Given the description of an element on the screen output the (x, y) to click on. 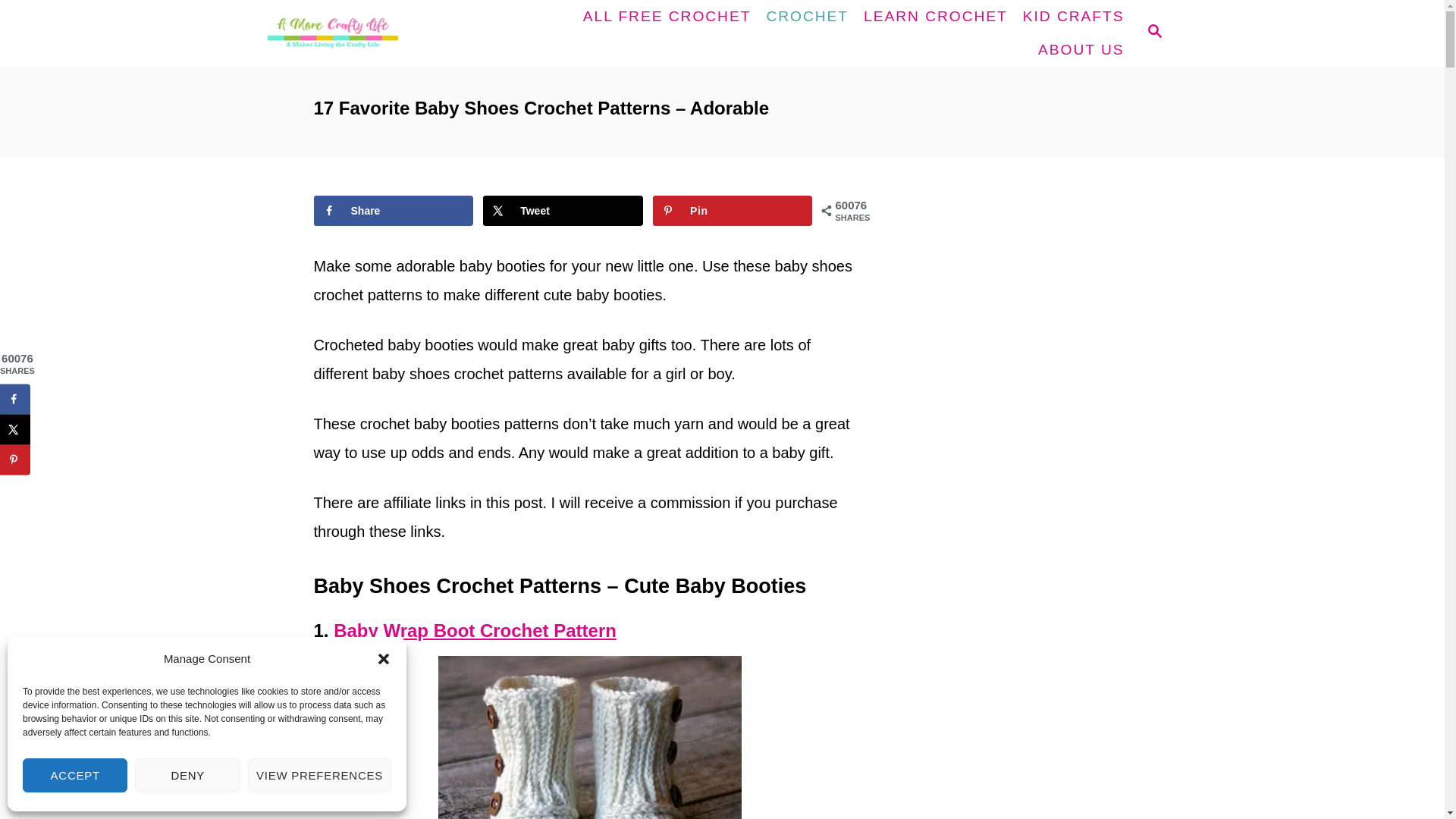
Share on Facebook (394, 210)
Save to Pinterest (732, 210)
KID CRAFTS (1073, 16)
VIEW PREFERENCES (319, 775)
Save to Pinterest (15, 459)
Share on Facebook (15, 399)
ALL FREE CROCHET (666, 16)
LEARN CROCHET (935, 16)
ACCEPT (75, 775)
Share on X (563, 210)
Share on X (15, 429)
SEARCH (1153, 33)
CROCHET (807, 16)
A More Crafty Life (377, 32)
DENY (187, 775)
